Given the description of an element on the screen output the (x, y) to click on. 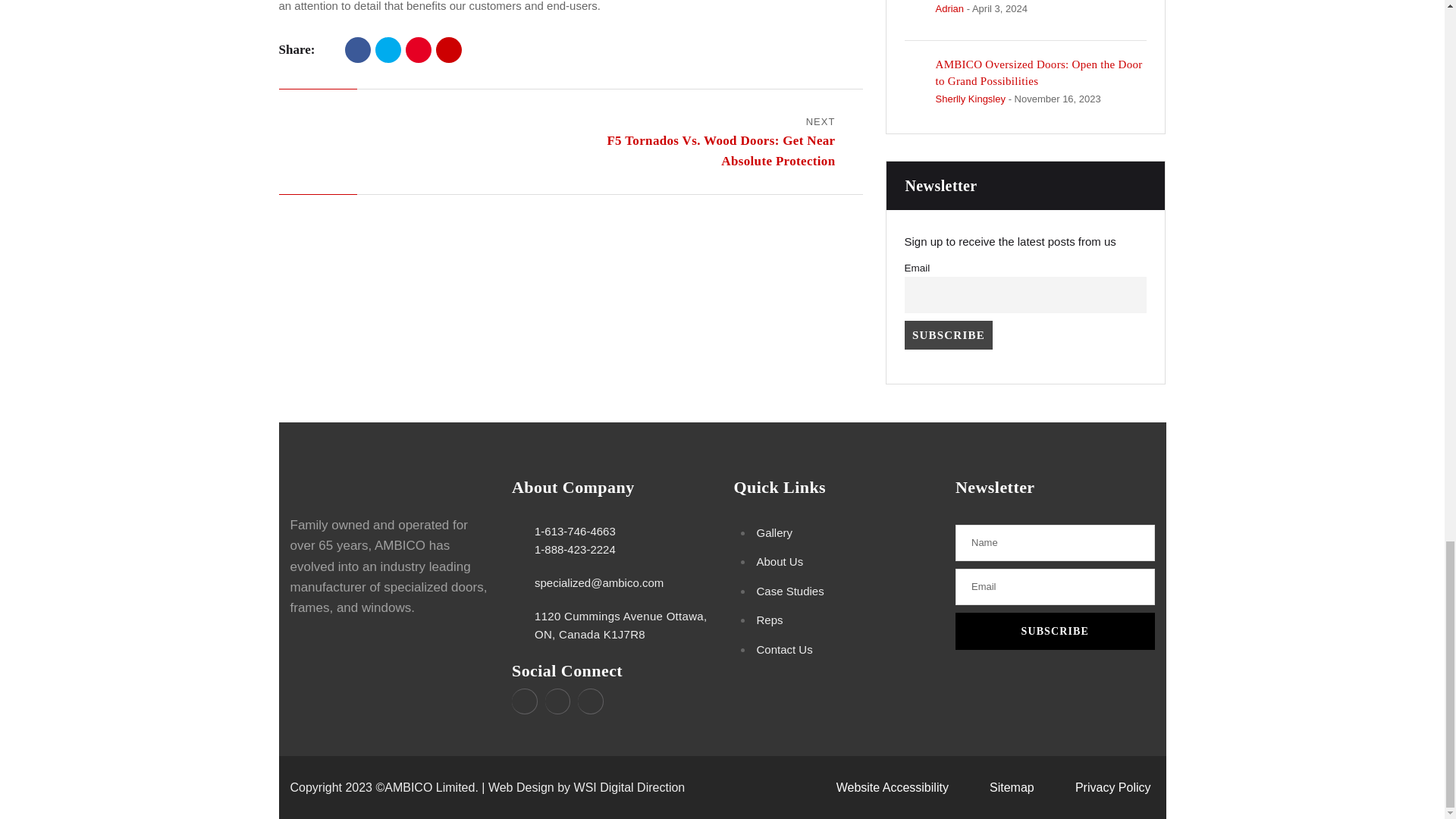
Subscribe (948, 335)
Posts by Sherlly Kingsley (971, 98)
LinkedIn (448, 49)
AMBICO Oversized Doors: Open the Door to Grand Possibilities (1039, 72)
Subscribe (1054, 631)
Twitter (388, 49)
Pinterest (418, 49)
Posts by Adrian (949, 8)
Facebook (358, 49)
